Given the description of an element on the screen output the (x, y) to click on. 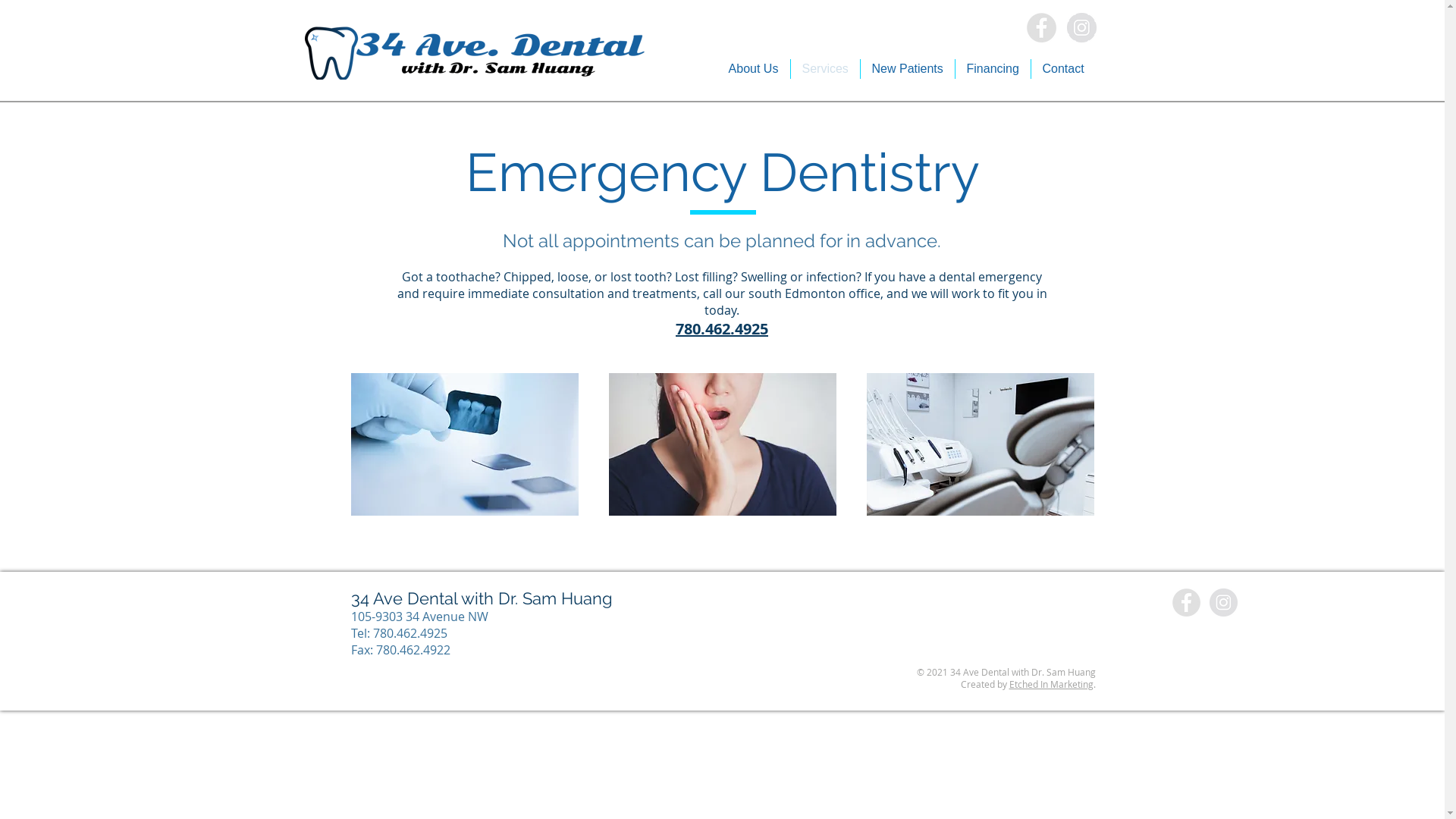
About Us Element type: text (753, 68)
Services Element type: text (824, 68)
780.462.4925 Element type: text (721, 328)
Financing Element type: text (992, 68)
Etched In Marketing Element type: text (1050, 683)
Contact Element type: text (1063, 68)
New Patients Element type: text (906, 68)
780.462.4925 Element type: text (410, 632)
